Given the description of an element on the screen output the (x, y) to click on. 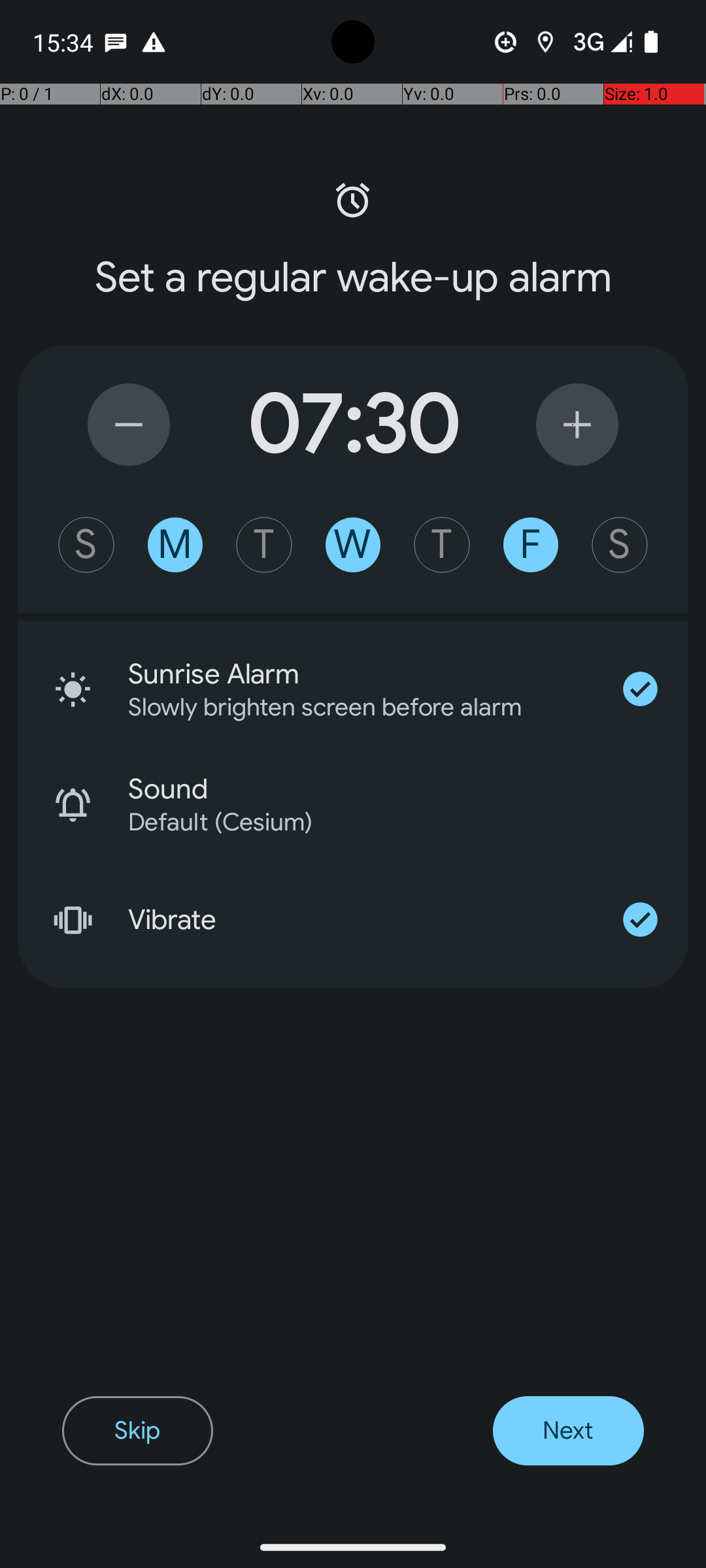
Set a regular wake-up alarm Element type: android.widget.TextView (352, 277)
Fifteen minutes earlier Element type: android.widget.ImageView (128, 424)
07:30 Element type: android.widget.TextView (353, 424)
Fifteen minutes later Element type: android.widget.ImageView (577, 424)
S Element type: android.widget.CheckBox (86, 544)
M Element type: android.widget.CheckBox (175, 544)
T Element type: android.widget.CheckBox (263, 544)
W Element type: android.widget.CheckBox (352, 544)
F Element type: android.widget.CheckBox (530, 544)
Skip Element type: android.widget.Button (137, 1430)
Next Element type: android.widget.Button (567, 1430)
Sunrise Alarm Element type: android.widget.TextView (360, 673)
Slowly brighten screen before alarm Element type: android.widget.TextView (342, 706)
Sound Element type: android.widget.TextView (408, 788)
Default (Cesium) Element type: android.widget.TextView (390, 821)
Vibrate Element type: android.widget.TextView (360, 919)
